Given the description of an element on the screen output the (x, y) to click on. 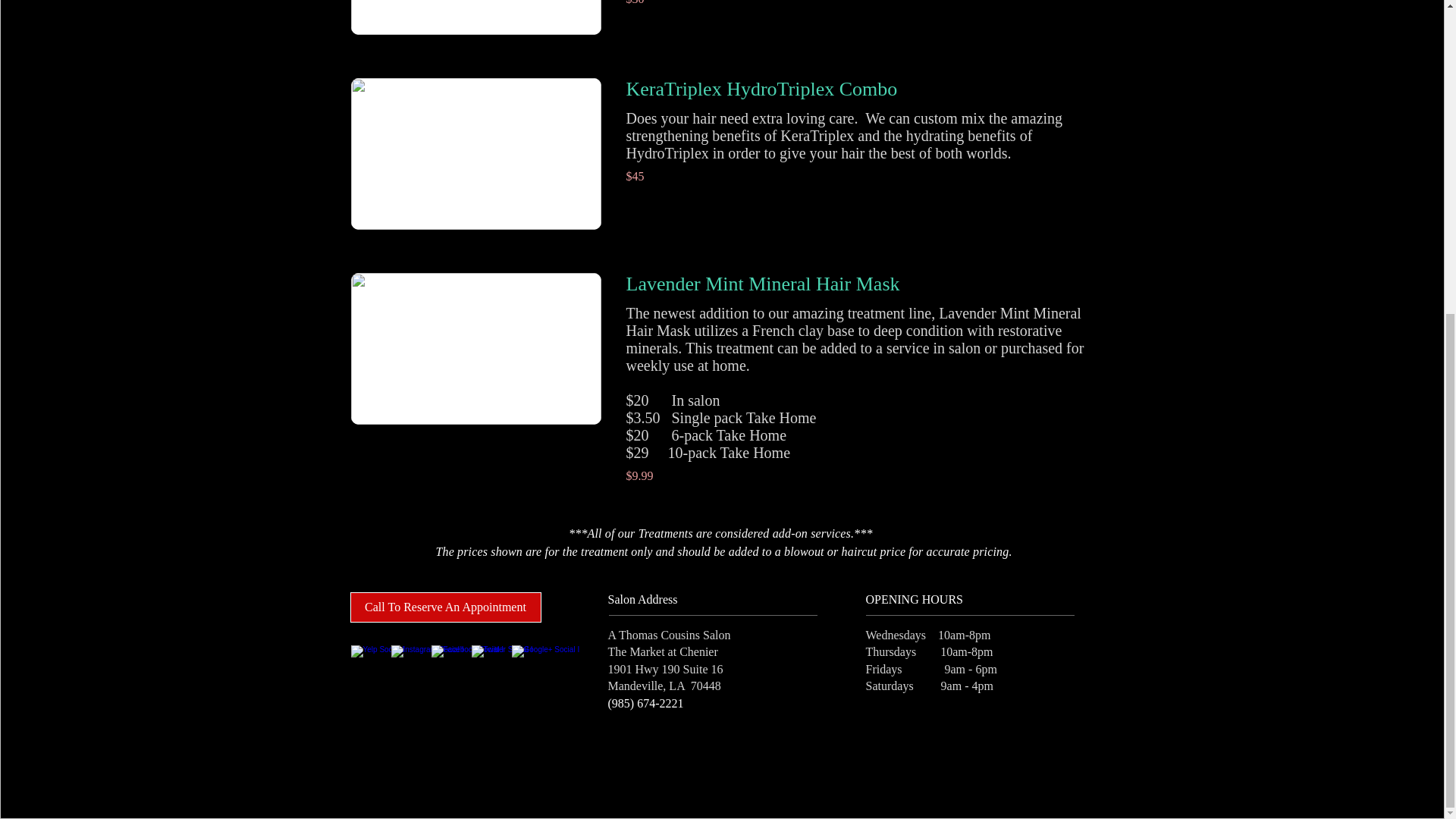
Hydro Complex Treatment for Dry Frizzy Hair (474, 17)
Call To Reserve An Appointment (445, 607)
KeraTriplex and HydroTriplex for stregth and Hydration (474, 153)
paul mitchell lavender mint mineral hair mask (474, 348)
